Given the description of an element on the screen output the (x, y) to click on. 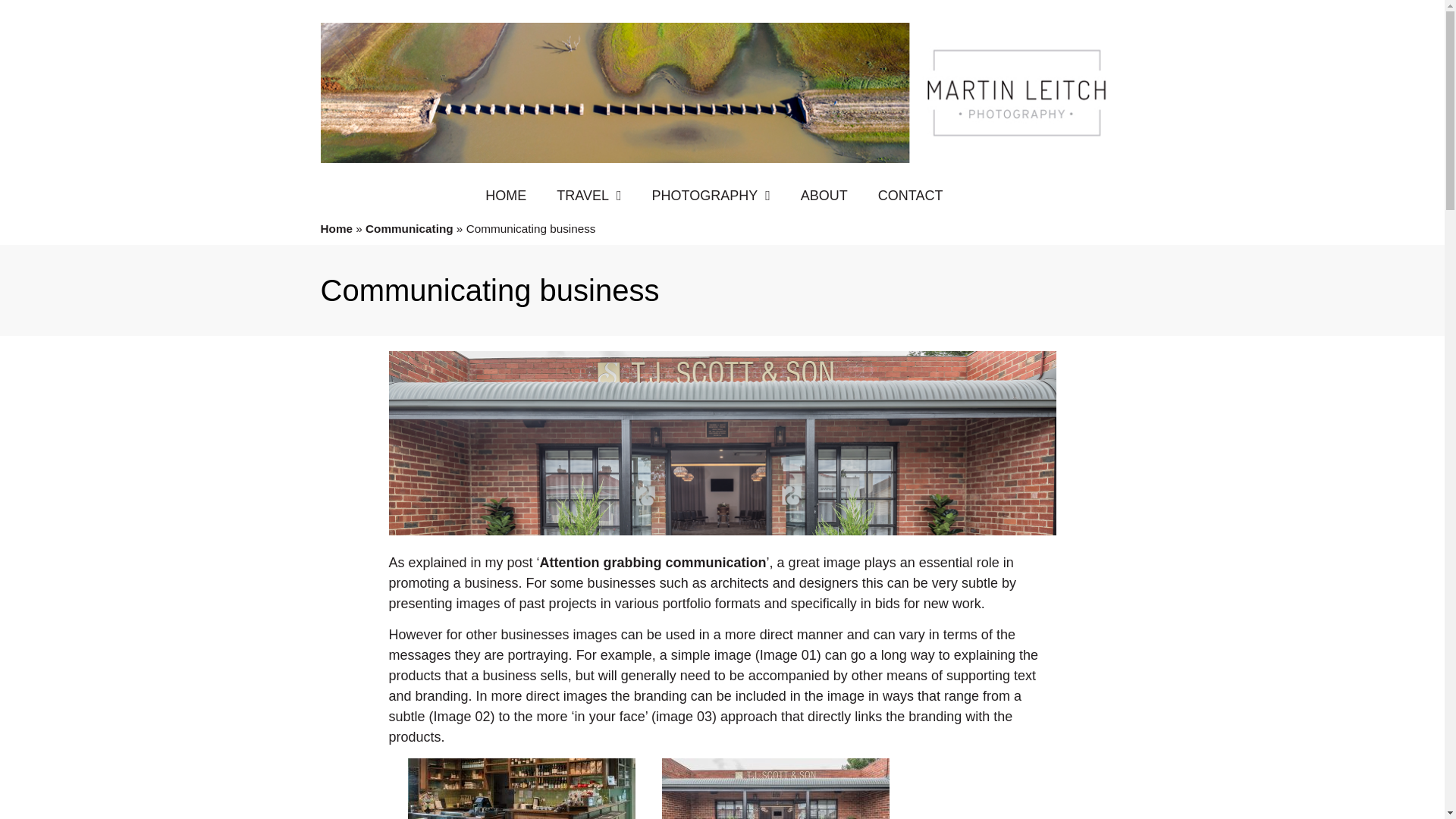
PHOTOGRAPHY (711, 195)
HOME (505, 195)
TRAVEL (588, 195)
ABOUT (824, 195)
CONTACT (910, 195)
